Given the description of an element on the screen output the (x, y) to click on. 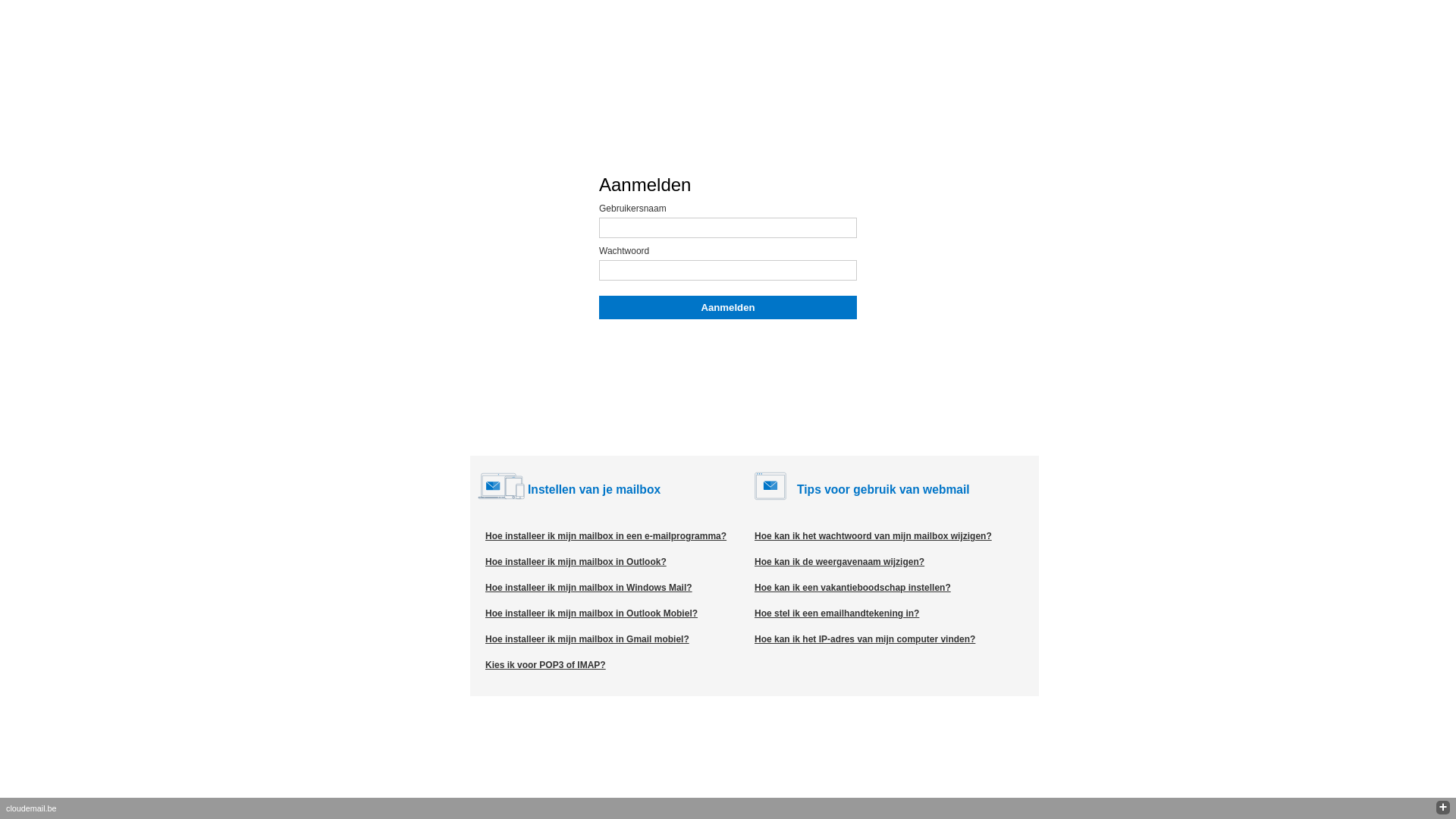
Hoe kan ik het wachtwoord van mijn mailbox wijzigen? Element type: text (872, 535)
Hoe installeer ik mijn mailbox in Windows Mail? Element type: text (588, 587)
Hoe kan ik het IP-adres van mijn computer vinden? Element type: text (864, 638)
Hoe installeer ik mijn mailbox in Outlook Mobiel? Element type: text (591, 613)
Hoe stel ik een emailhandtekening in? Element type: text (836, 613)
Hoe kan ik de weergavenaam wijzigen? Element type: text (839, 561)
Hoe installeer ik mijn mailbox in Gmail mobiel? Element type: text (587, 638)
Hoe installeer ik mijn mailbox in een e-mailprogramma? Element type: text (605, 535)
Hoe installeer ik mijn mailbox in Outlook? Element type: text (575, 561)
Hoe kan ik een vakantieboodschap instellen? Element type: text (852, 587)
Aanmelden Element type: text (727, 307)
+ Element type: text (1442, 807)
Kies ik voor POP3 of IMAP? Element type: text (545, 664)
